Given the description of an element on the screen output the (x, y) to click on. 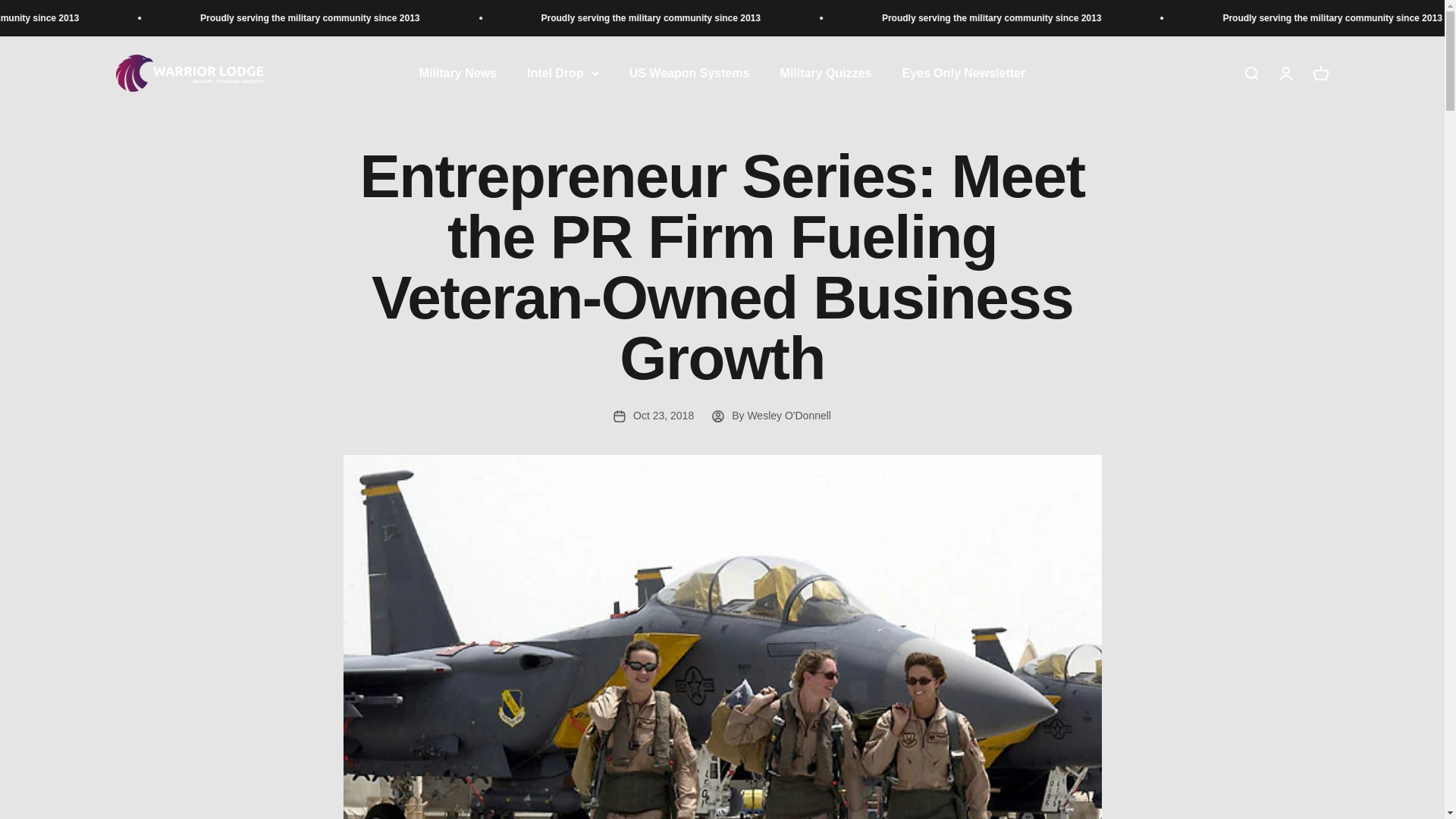
Warrior Lodge (189, 72)
Military Quizzes (1319, 73)
Military News (826, 72)
US Weapon Systems (457, 72)
Open account page (688, 72)
Eyes Only Newsletter (1285, 73)
Open search (963, 72)
